Given the description of an element on the screen output the (x, y) to click on. 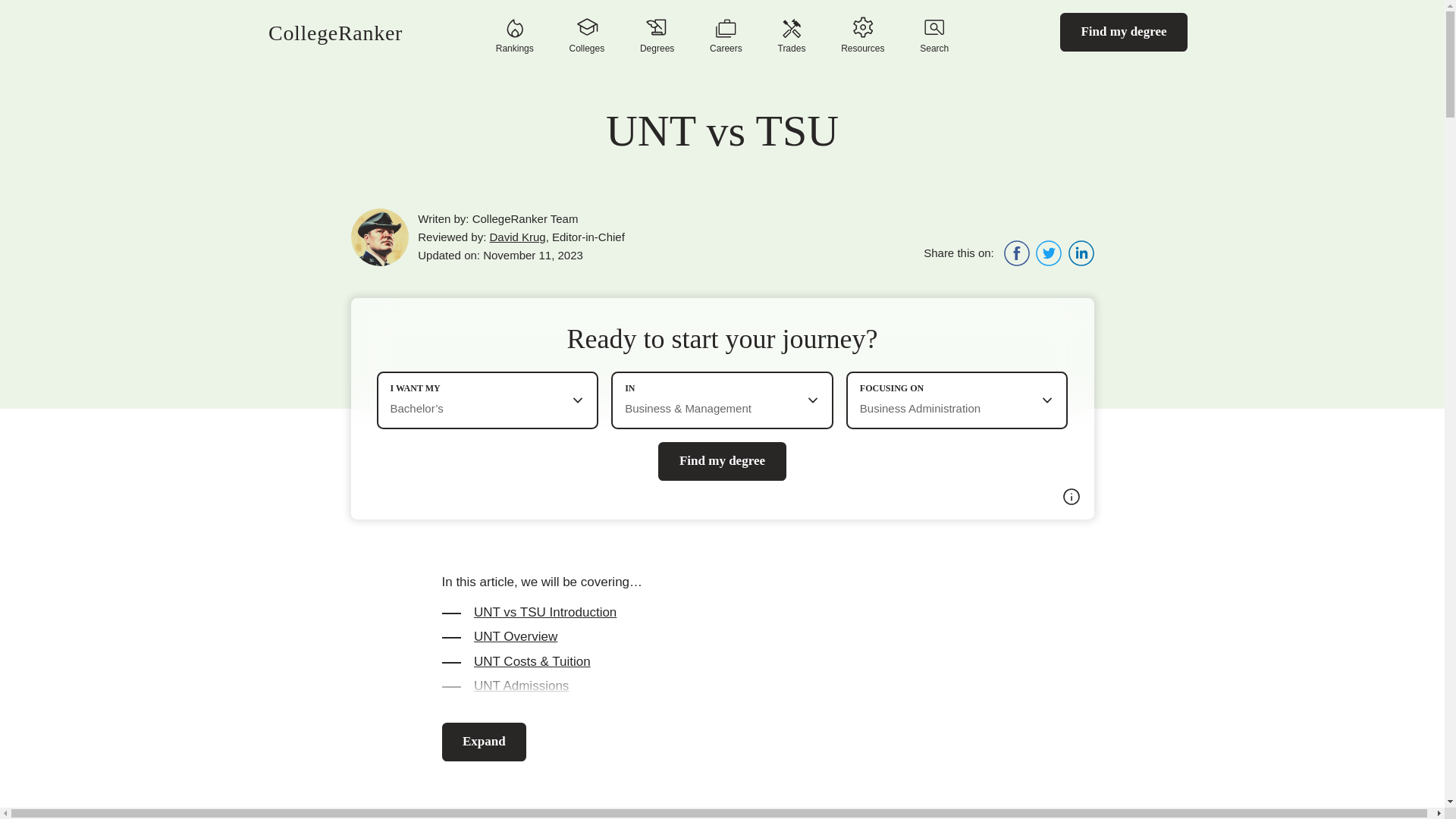
David Krug (516, 236)
Resources (862, 35)
CollegeRanker (335, 33)
Find my degree (1123, 31)
UNT Overview (722, 636)
UNT Degrees Offered (722, 710)
UNT vs TSU Introduction (722, 612)
UNT Admissions (722, 686)
Find my degree (722, 461)
